Given the description of an element on the screen output the (x, y) to click on. 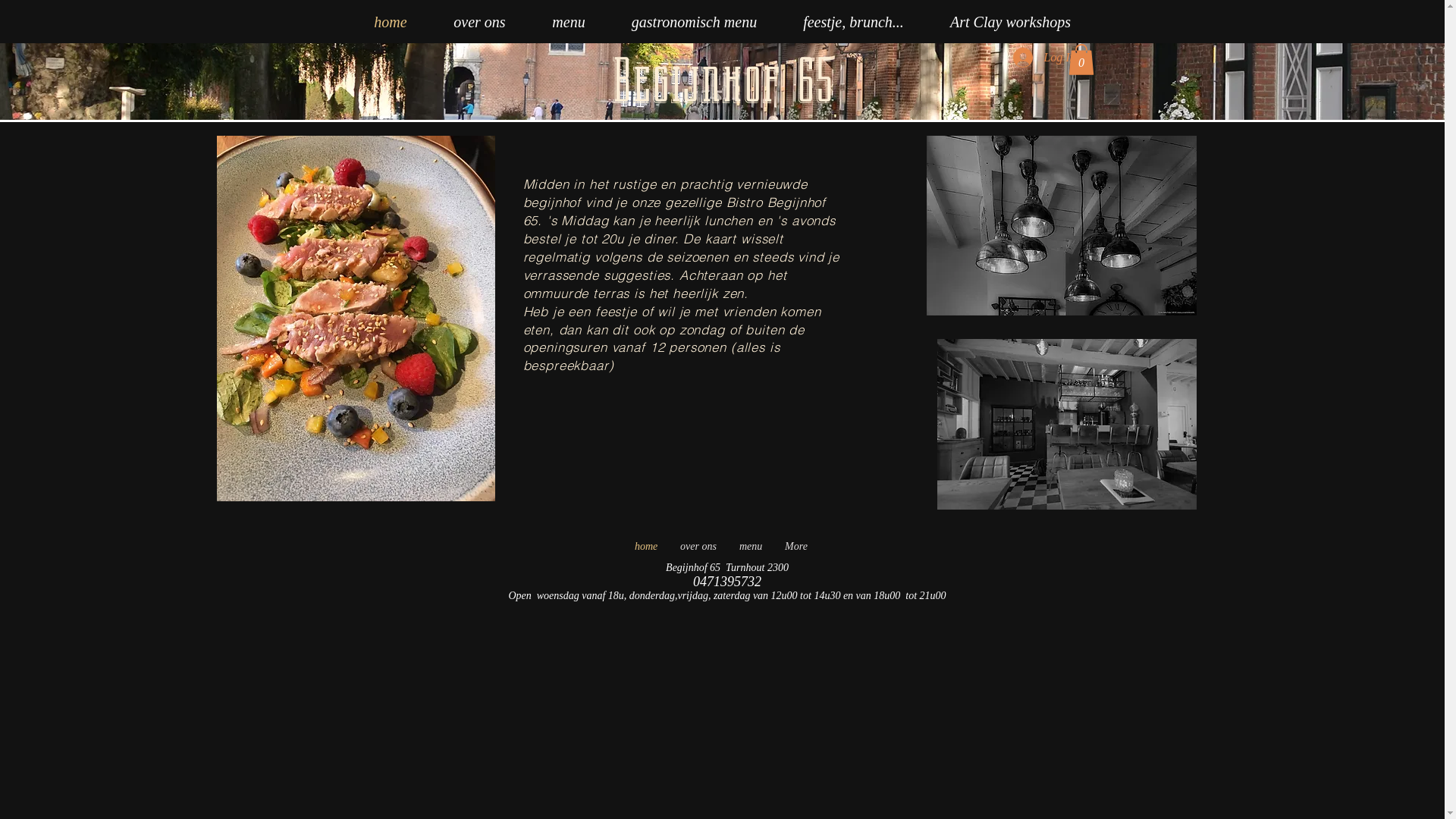
menu Element type: text (750, 546)
over ons Element type: text (698, 546)
Begijnhof 65 Element type: text (721, 81)
gastronomisch menu Element type: text (693, 21)
over ons Element type: text (479, 21)
feestje, brunch... Element type: text (852, 21)
Art Clay workshops Element type: text (1009, 21)
0 Element type: text (1080, 59)
Log In Element type: text (1043, 57)
home Element type: text (389, 21)
menu Element type: text (568, 21)
home Element type: text (645, 546)
